Given the description of an element on the screen output the (x, y) to click on. 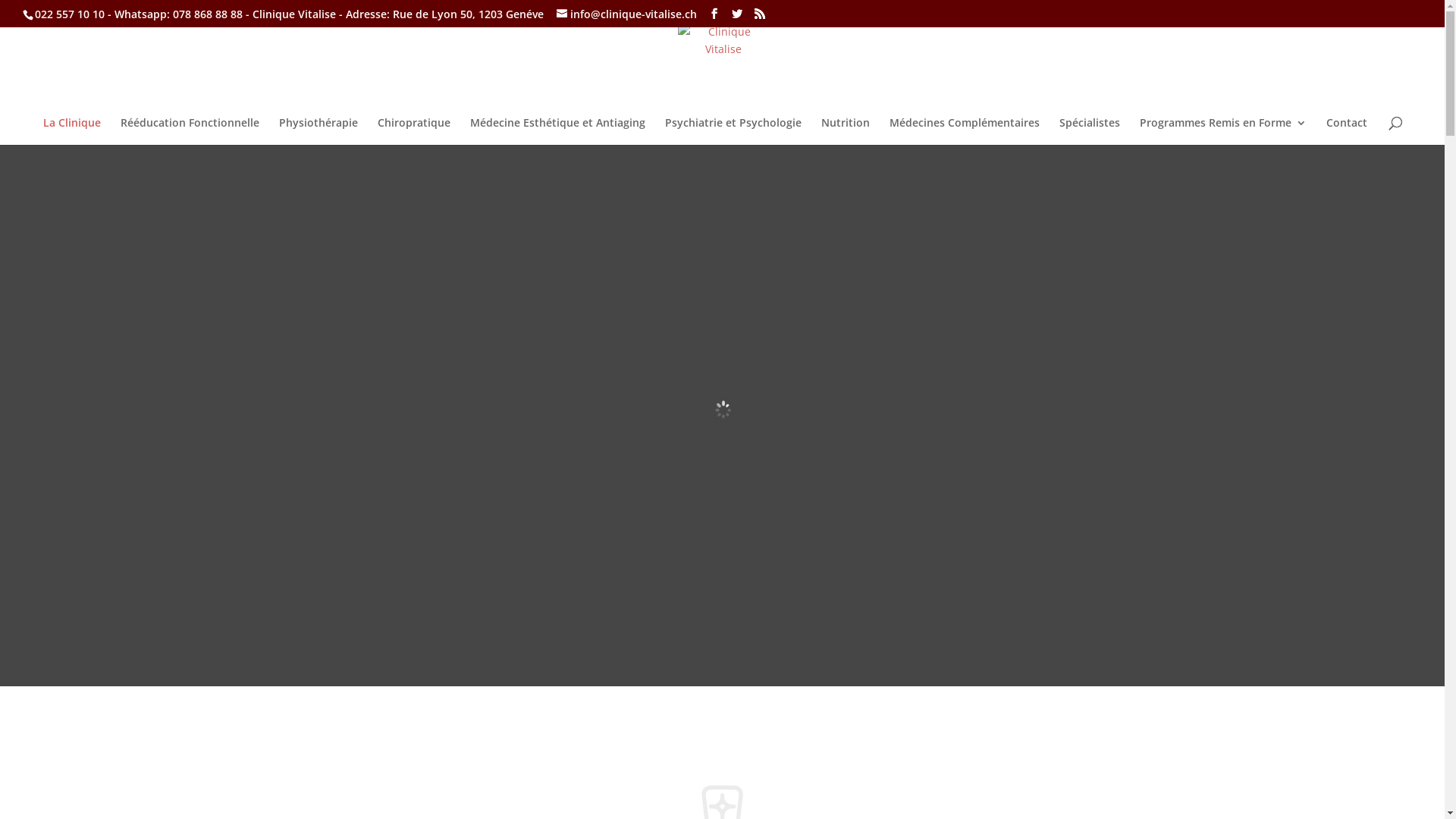
info@clinique-vitalise.ch Element type: text (626, 13)
Nutrition Element type: text (844, 130)
Programmes Remis en Forme Element type: text (1222, 130)
Contact Element type: text (1345, 130)
Chiropratique Element type: text (413, 130)
La Clinique Element type: text (71, 130)
Psychiatrie et Psychologie Element type: text (732, 130)
